Given the description of an element on the screen output the (x, y) to click on. 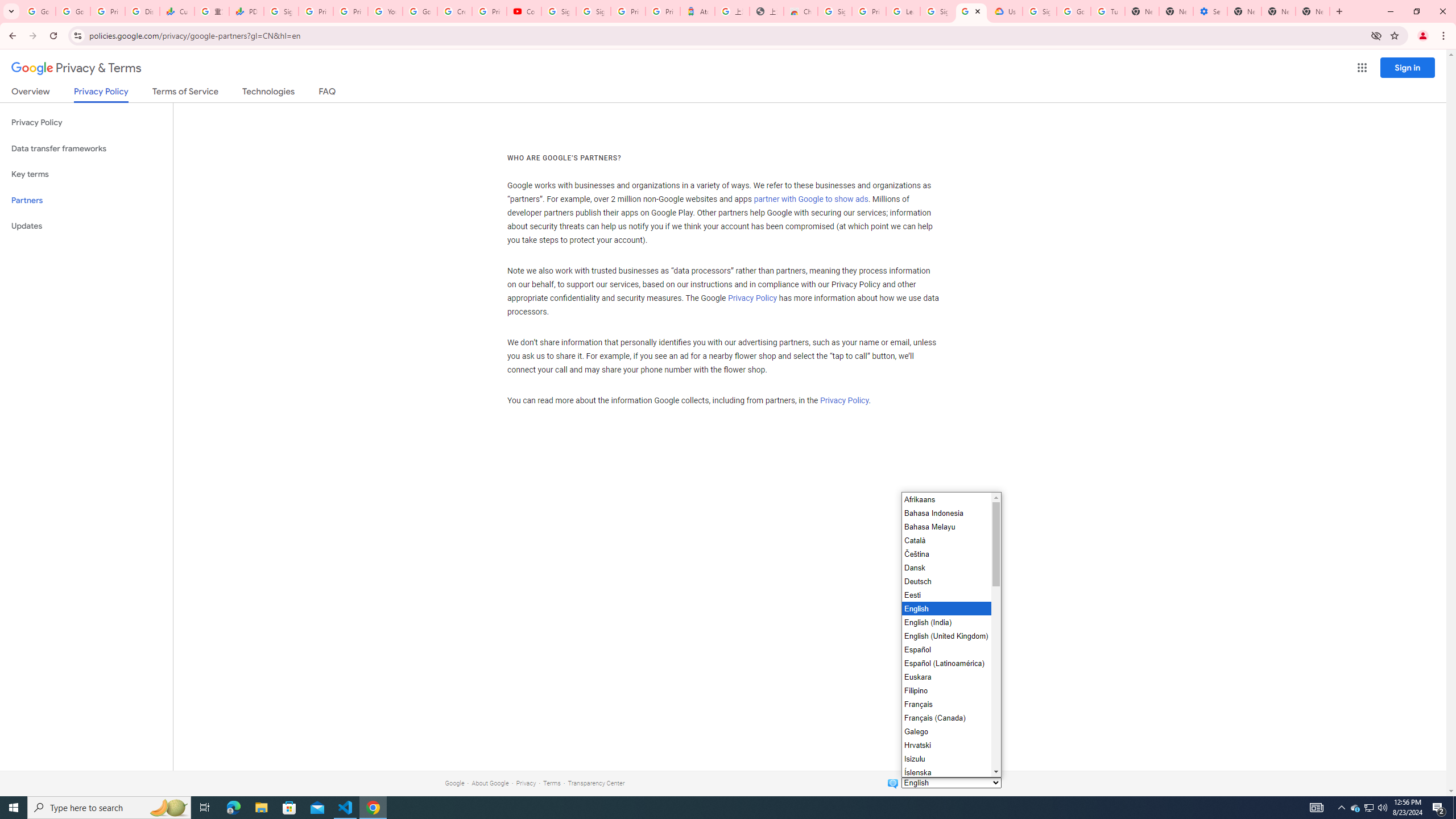
YouTube (384, 11)
PDD Holdings Inc - ADR (PDD) Price & News - Google Finance (246, 11)
Change language: (951, 782)
